Given the description of an element on the screen output the (x, y) to click on. 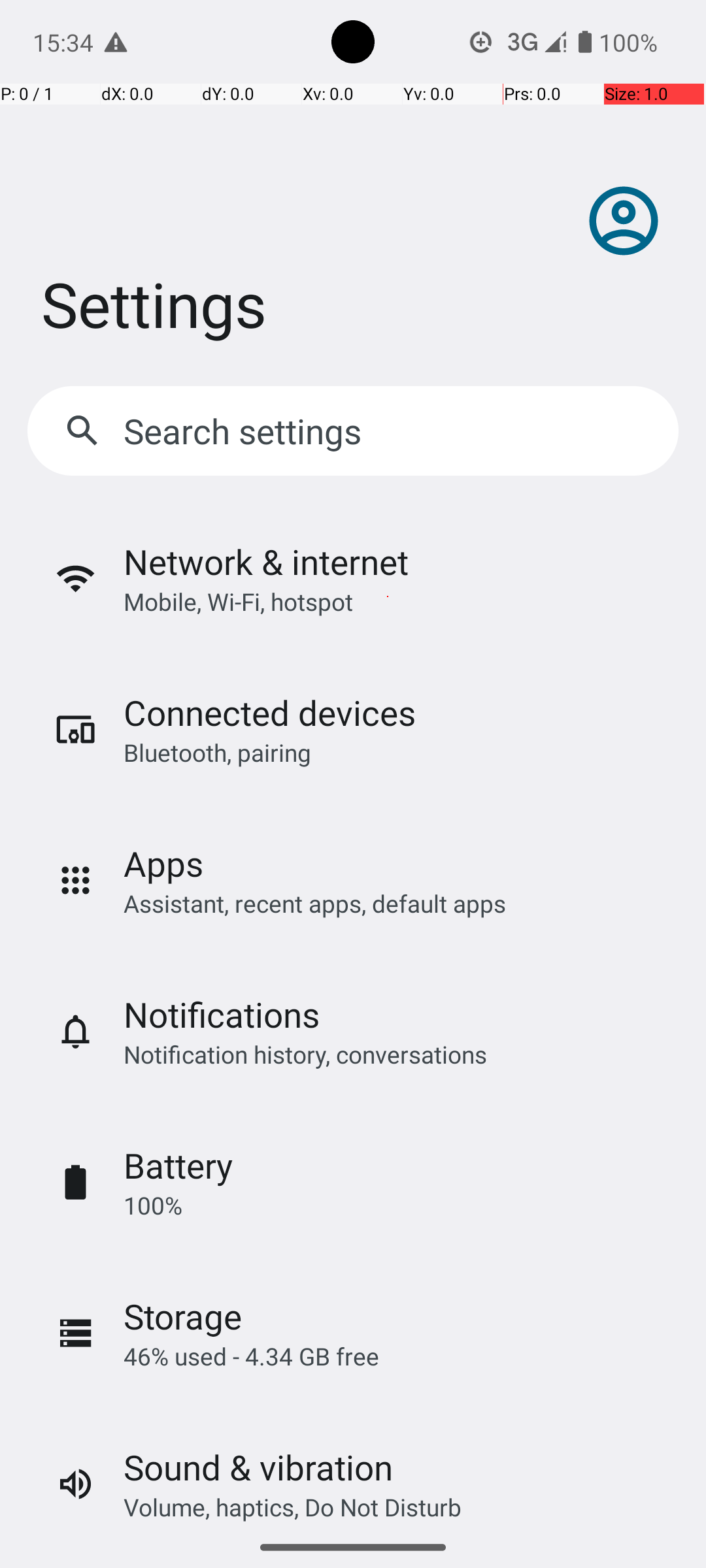
46% used - 4.34 GB free Element type: android.widget.TextView (251, 1355)
